Given the description of an element on the screen output the (x, y) to click on. 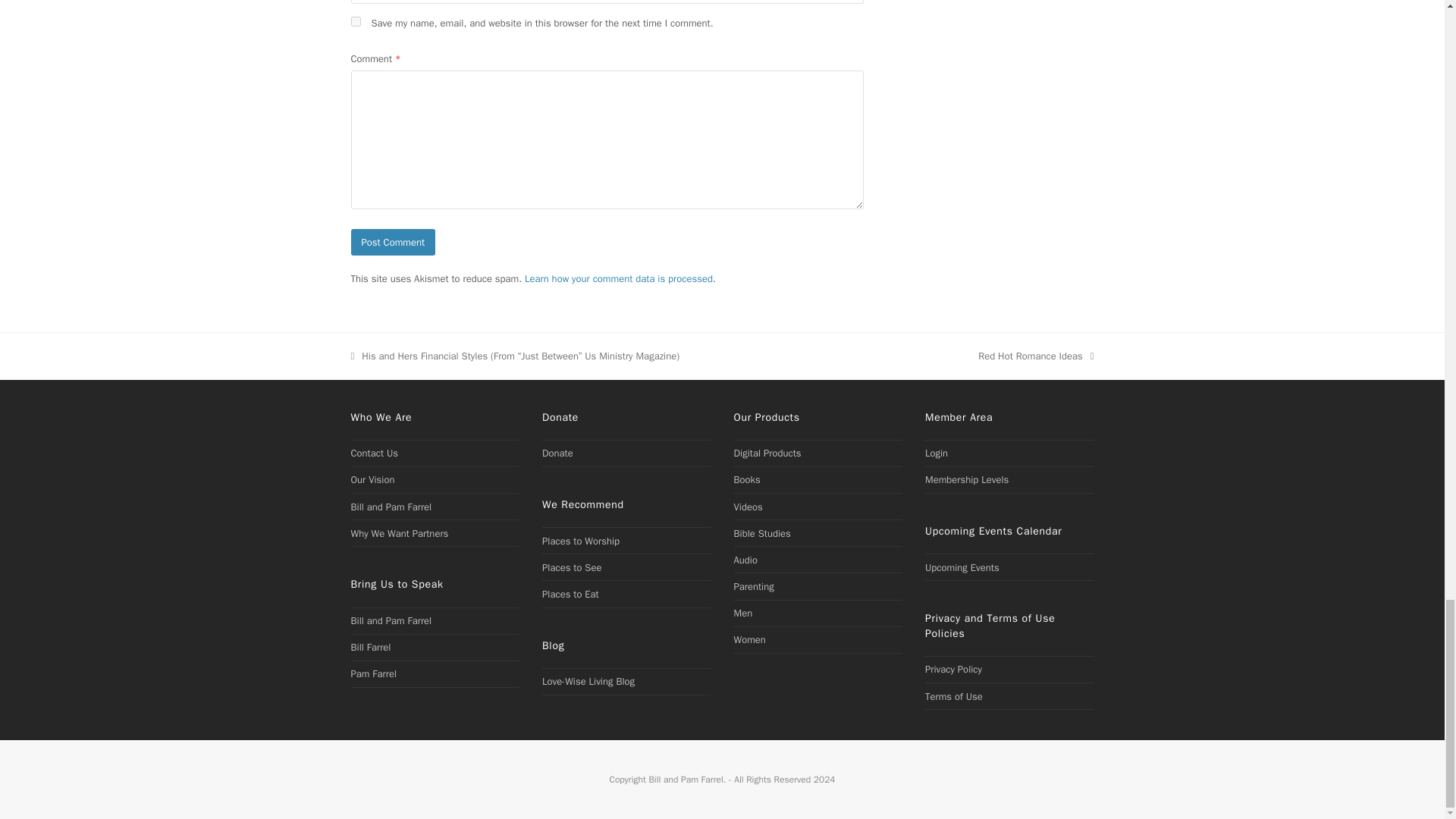
Post Comment (392, 242)
yes (354, 21)
